Given the description of an element on the screen output the (x, y) to click on. 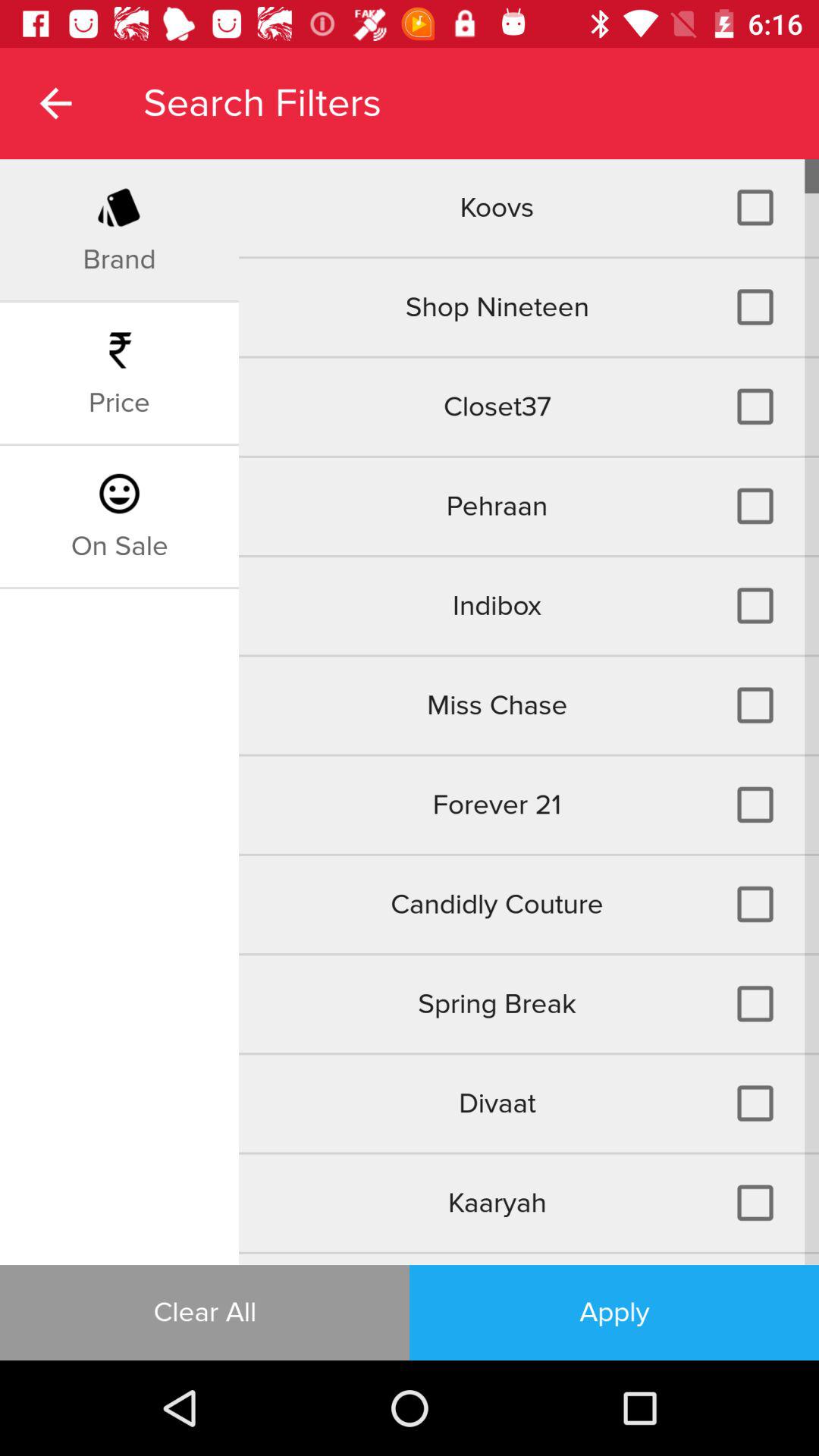
press icon to the left of pehraan (119, 546)
